Given the description of an element on the screen output the (x, y) to click on. 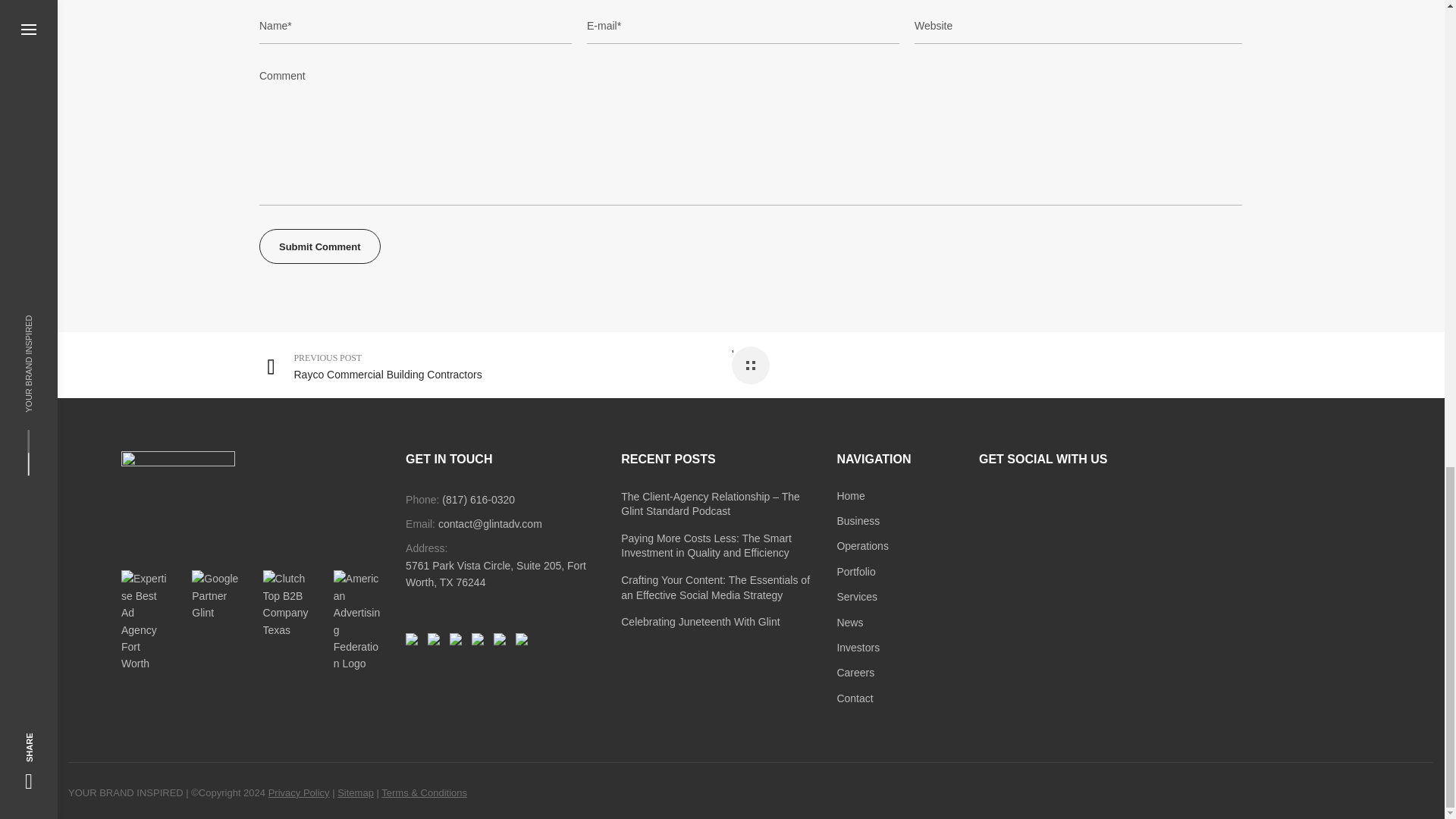
Submit Comment (319, 246)
